Given the description of an element on the screen output the (x, y) to click on. 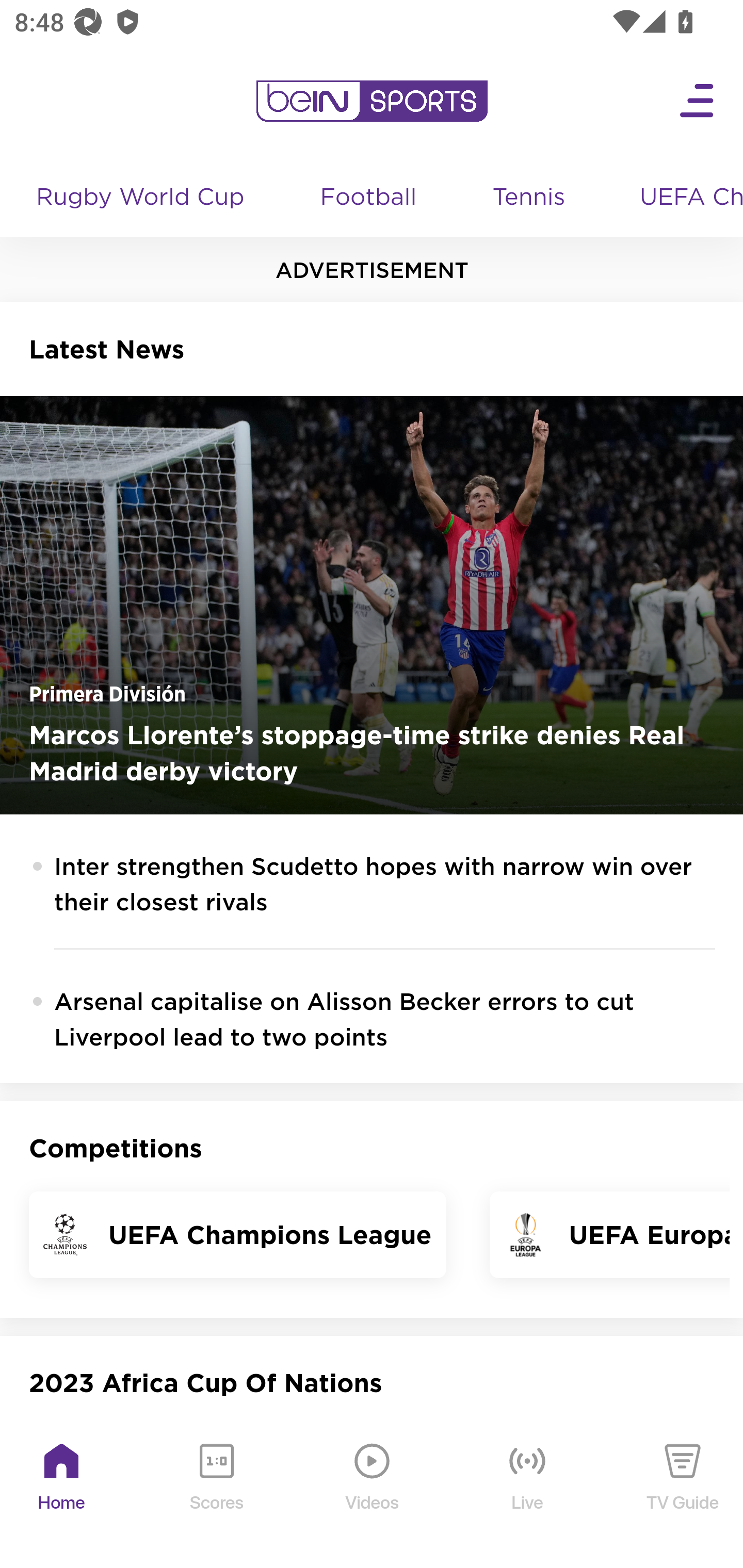
en-my?platform=mobile_android bein logo (371, 101)
Open Menu Icon (697, 101)
Rugby World Cup (142, 198)
Football (369, 198)
Tennis (530, 198)
UEFA Champions League (683, 198)
Home Home Icon Home (61, 1491)
Scores Scores Icon Scores (216, 1491)
Videos Videos Icon Videos (372, 1491)
TV Guide TV Guide Icon TV Guide (682, 1491)
